Given the description of an element on the screen output the (x, y) to click on. 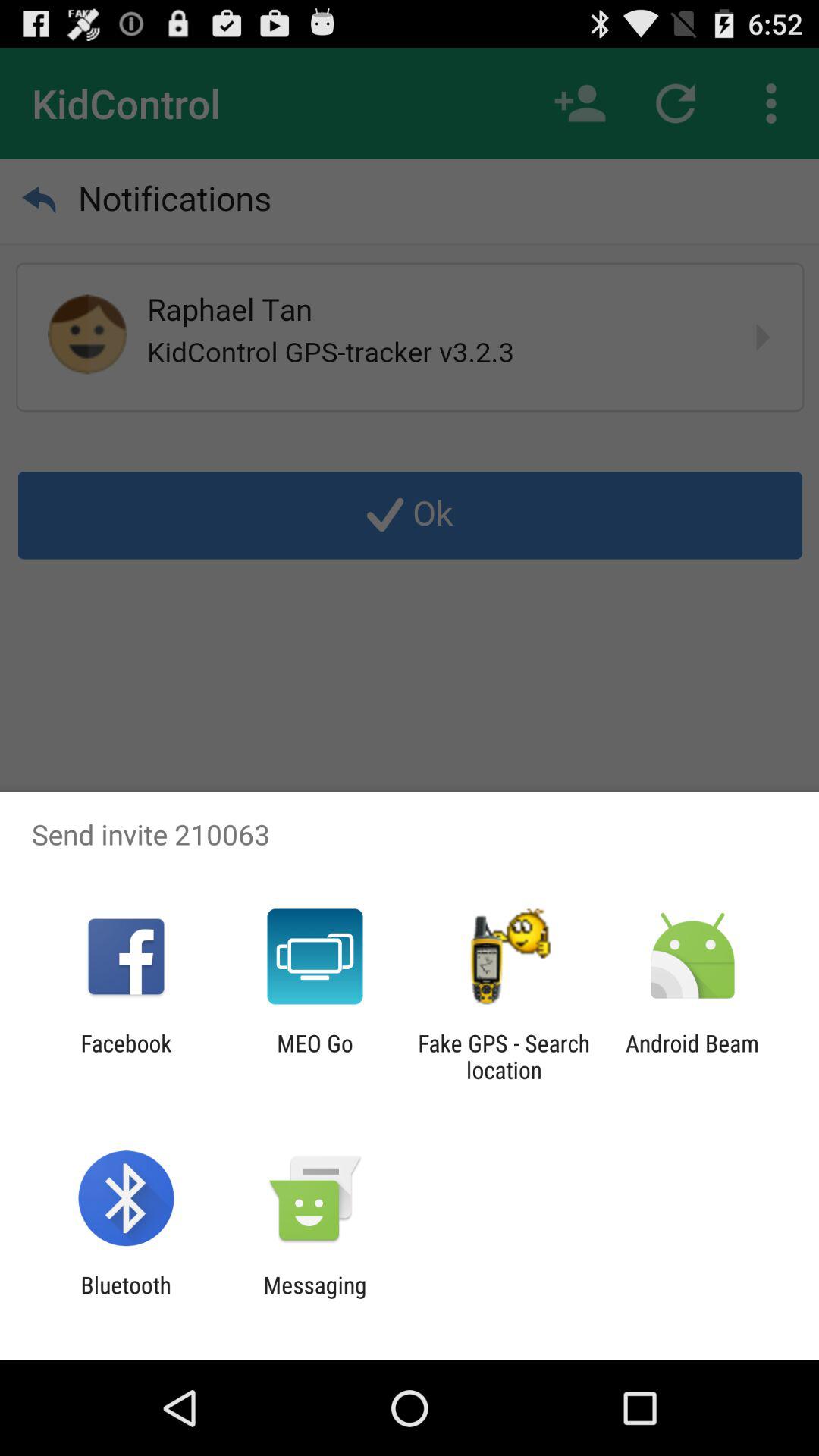
open the bluetooth (125, 1298)
